Given the description of an element on the screen output the (x, y) to click on. 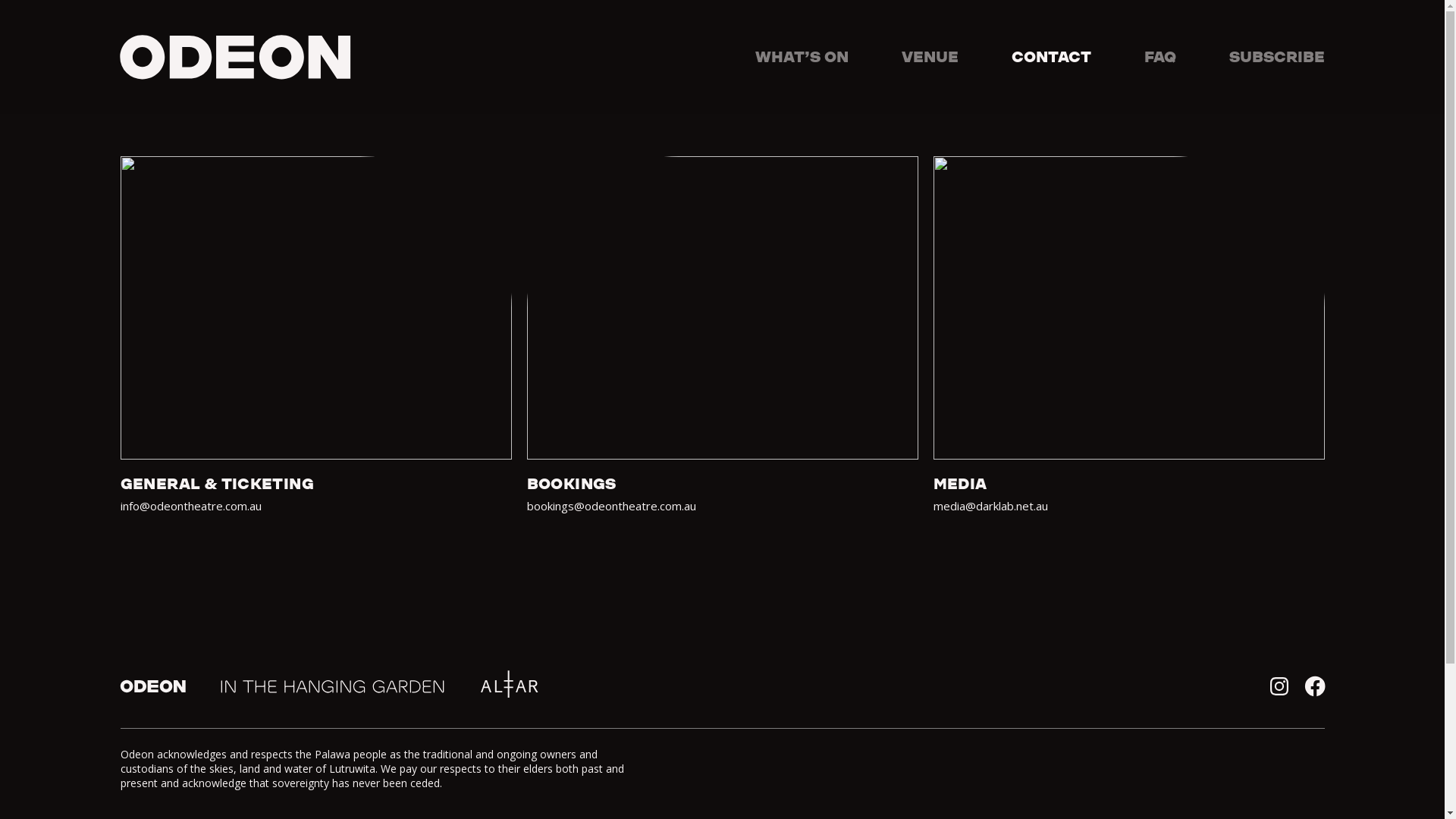
Odeon Element type: text (152, 686)
FAQ Element type: text (1159, 56)
SUBSCRIBE Element type: text (1275, 56)
Instagram Element type: text (1278, 686)
Altar Element type: text (509, 686)
Facebook Element type: text (1314, 686)
VENUE Element type: text (929, 56)
ODEON THEATRE Element type: text (234, 56)
CONTACT Element type: text (1051, 56)
In the Hanging Garden Element type: text (332, 686)
media@darklab.net.au Element type: text (989, 505)
bookings@odeontheatre.com.au Element type: text (610, 505)
info@odeontheatre.com.au Element type: text (189, 505)
